Given the description of an element on the screen output the (x, y) to click on. 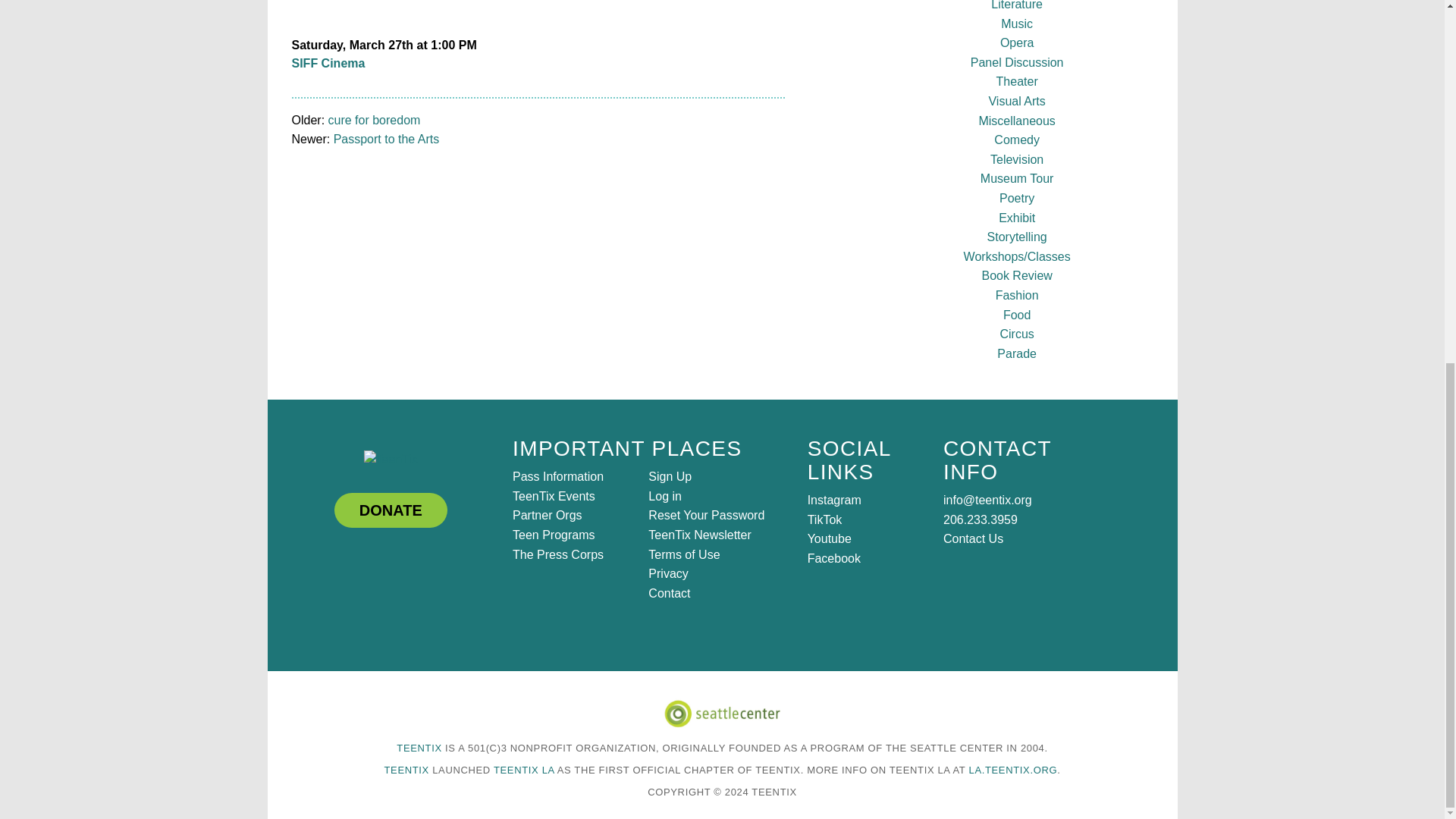
SIFF Cinema (328, 62)
Passport to the Arts (386, 138)
cure for boredom (374, 119)
